Given the description of an element on the screen output the (x, y) to click on. 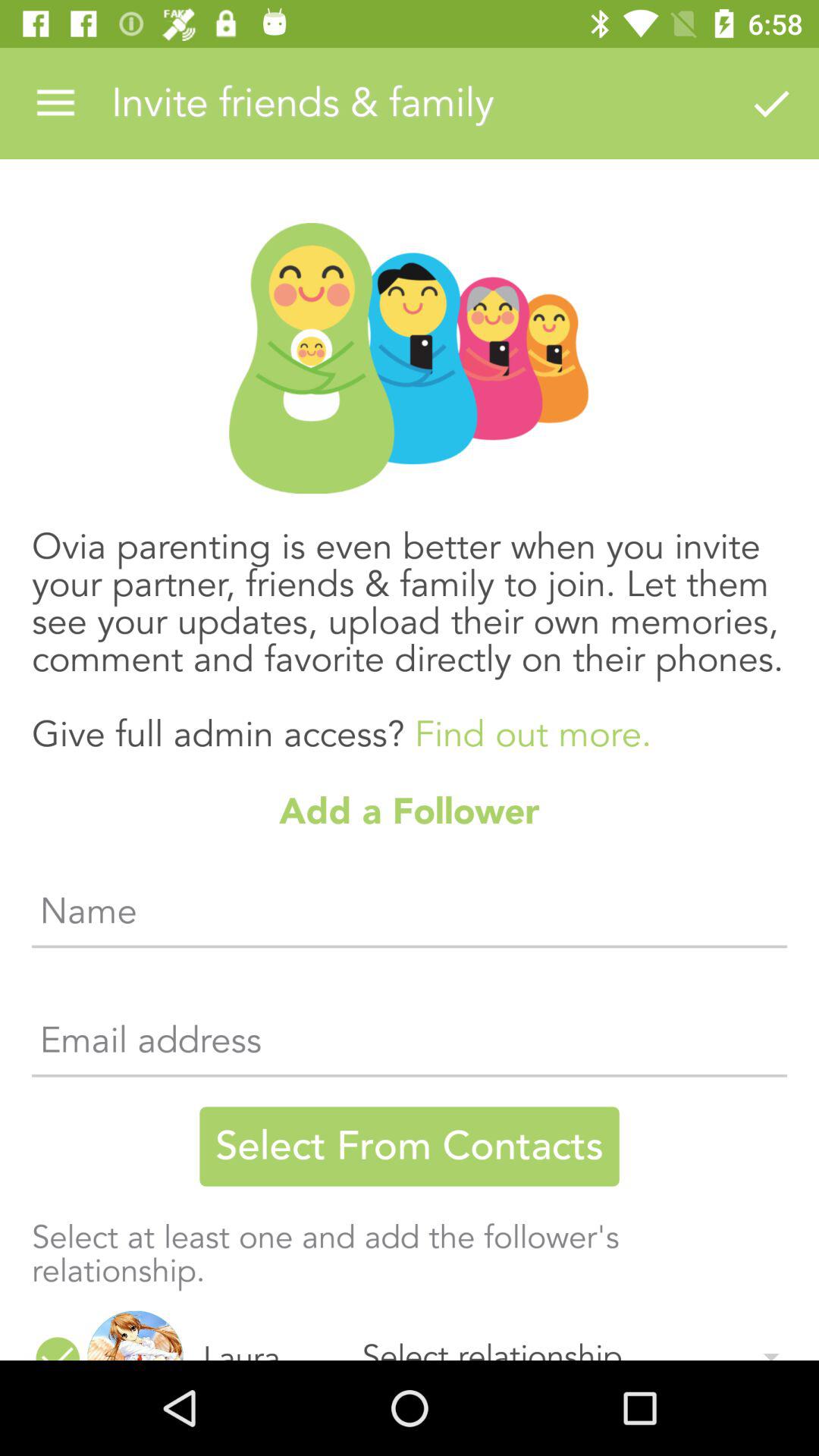
select item to the left of laura (135, 1335)
